Given the description of an element on the screen output the (x, y) to click on. 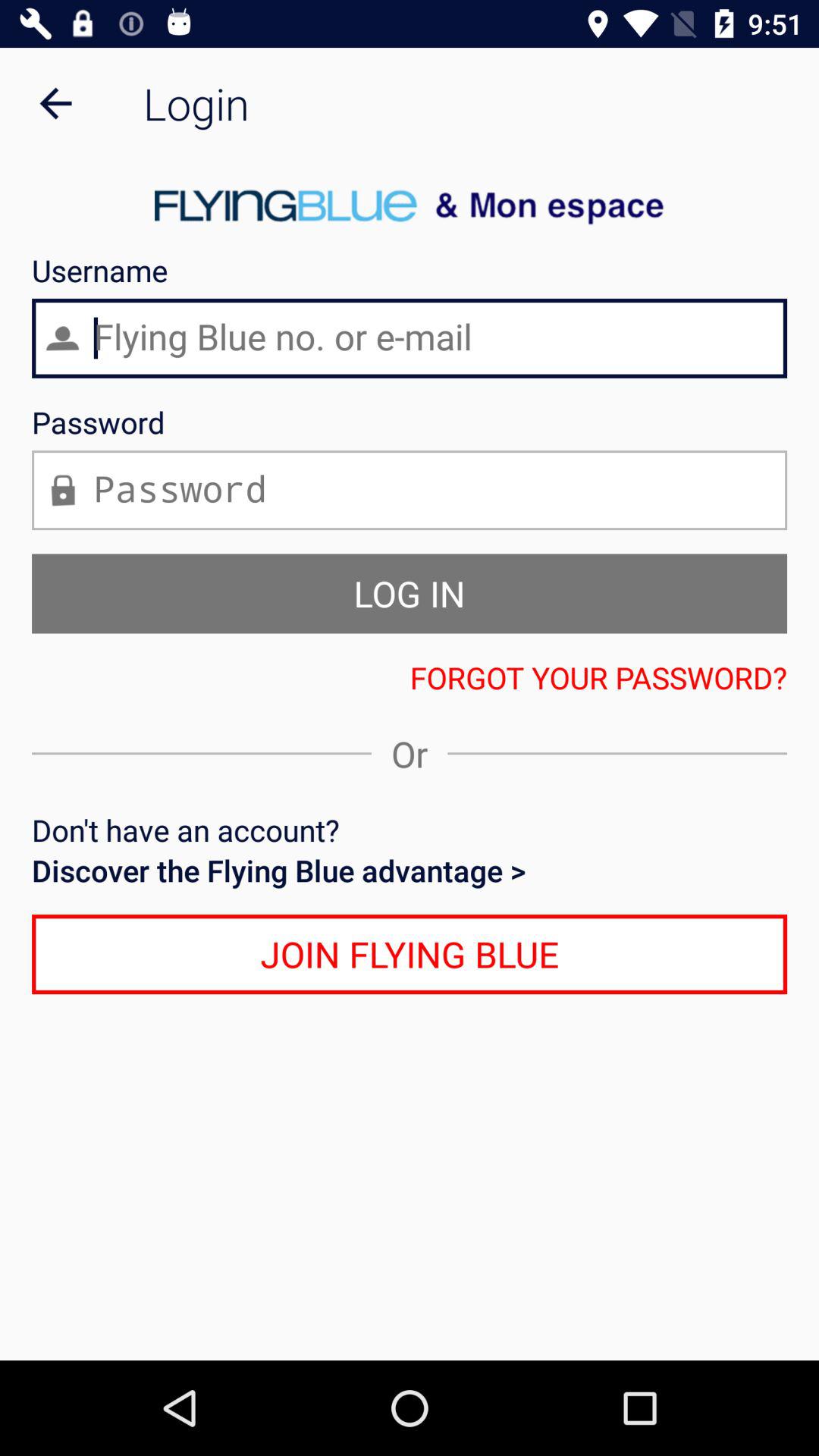
choose icon above the join flying blue icon (409, 870)
